Given the description of an element on the screen output the (x, y) to click on. 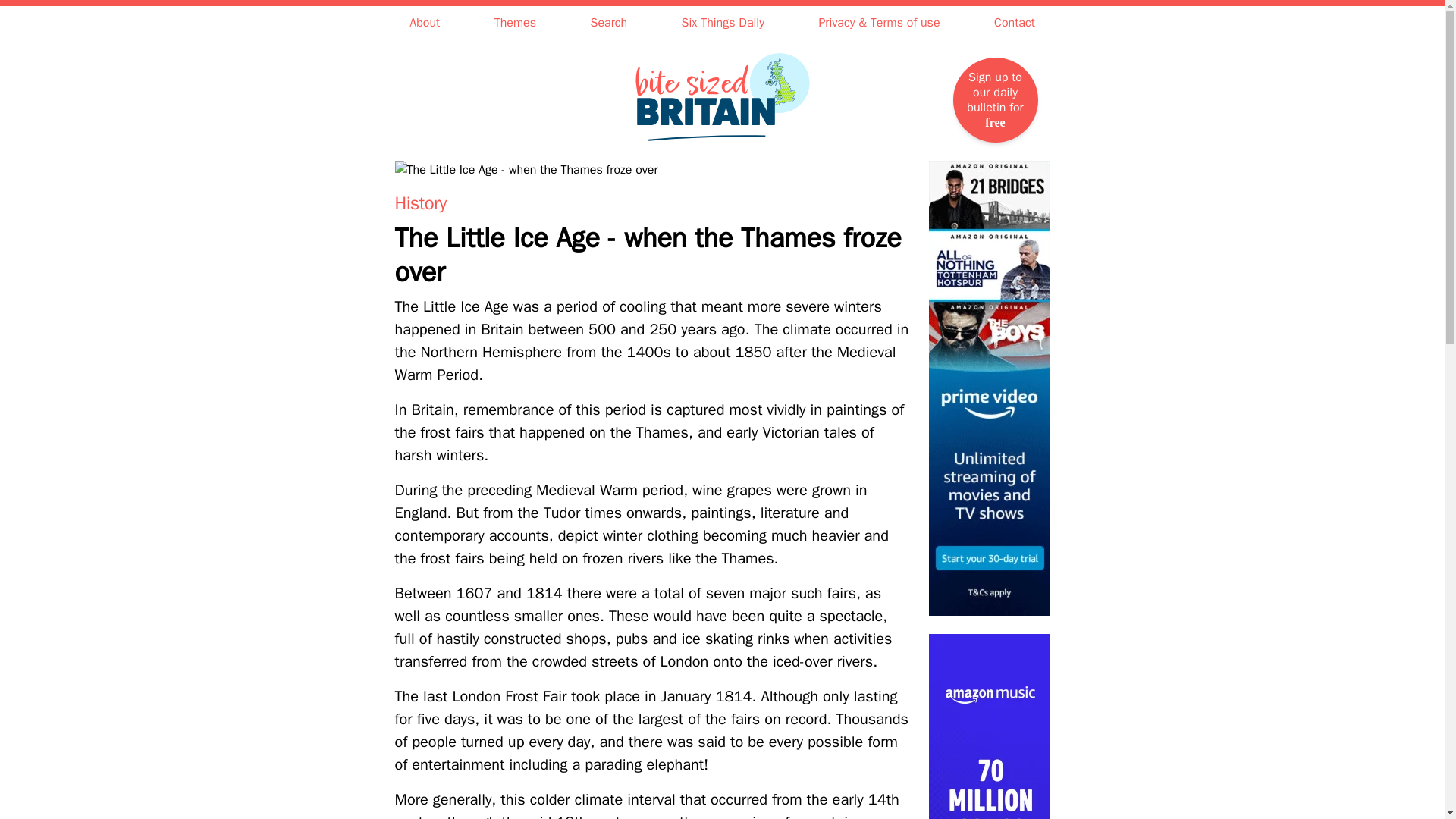
Six Things Daily (722, 22)
Sign up to our daily bulletin for free (994, 99)
Contact (1014, 22)
Themes (515, 22)
About (424, 22)
History (419, 202)
Search (609, 22)
